Given the description of an element on the screen output the (x, y) to click on. 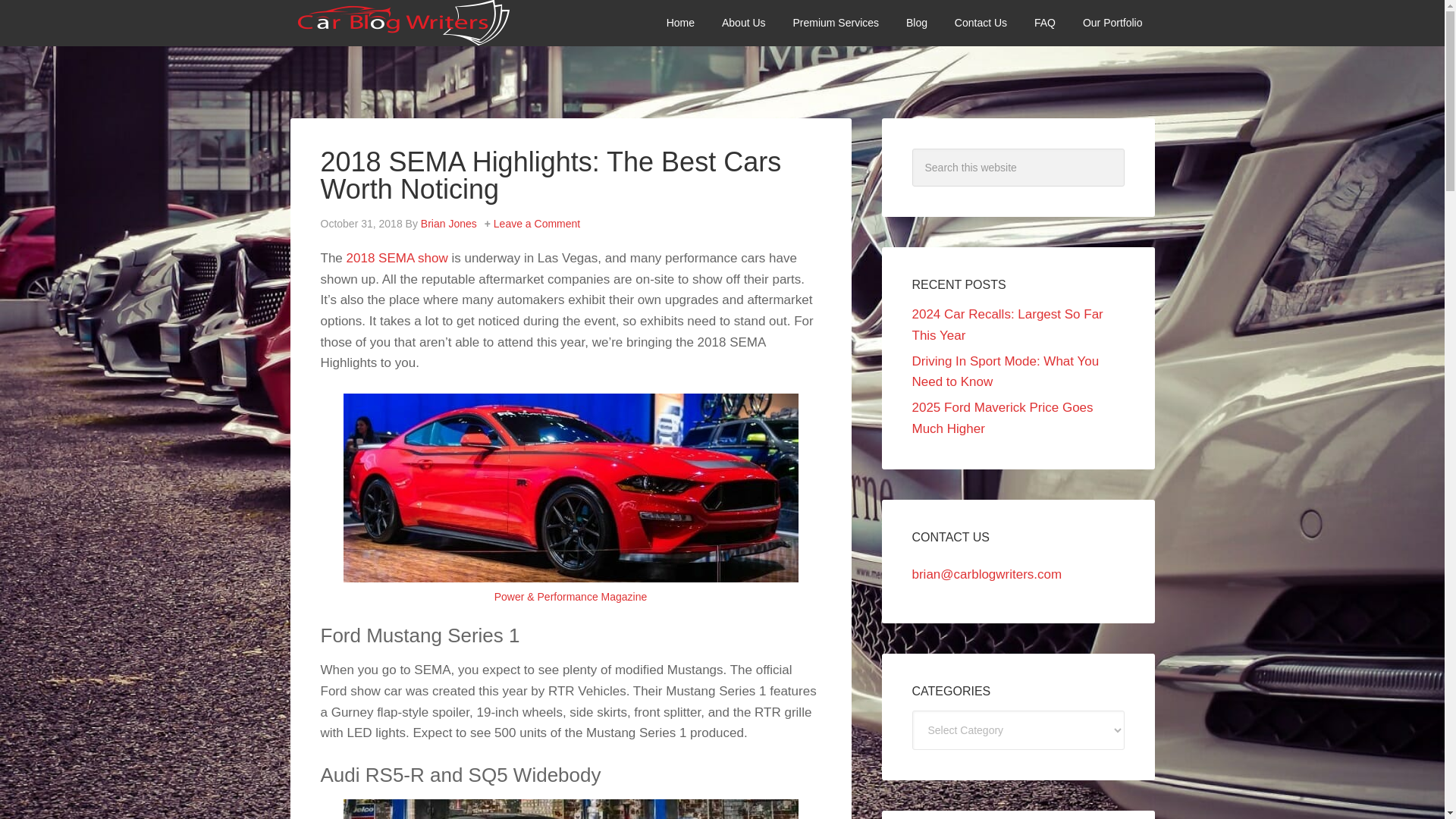
About Us (743, 22)
Premium Services (835, 22)
2018 SEMA Highlights: The Best Cars Worth Noticing (550, 175)
FAQ (1044, 22)
2025 Ford Maverick Price Goes Much Higher (1002, 417)
Blog (916, 22)
Leave a Comment (536, 223)
Brian Jones (448, 223)
